Given the description of an element on the screen output the (x, y) to click on. 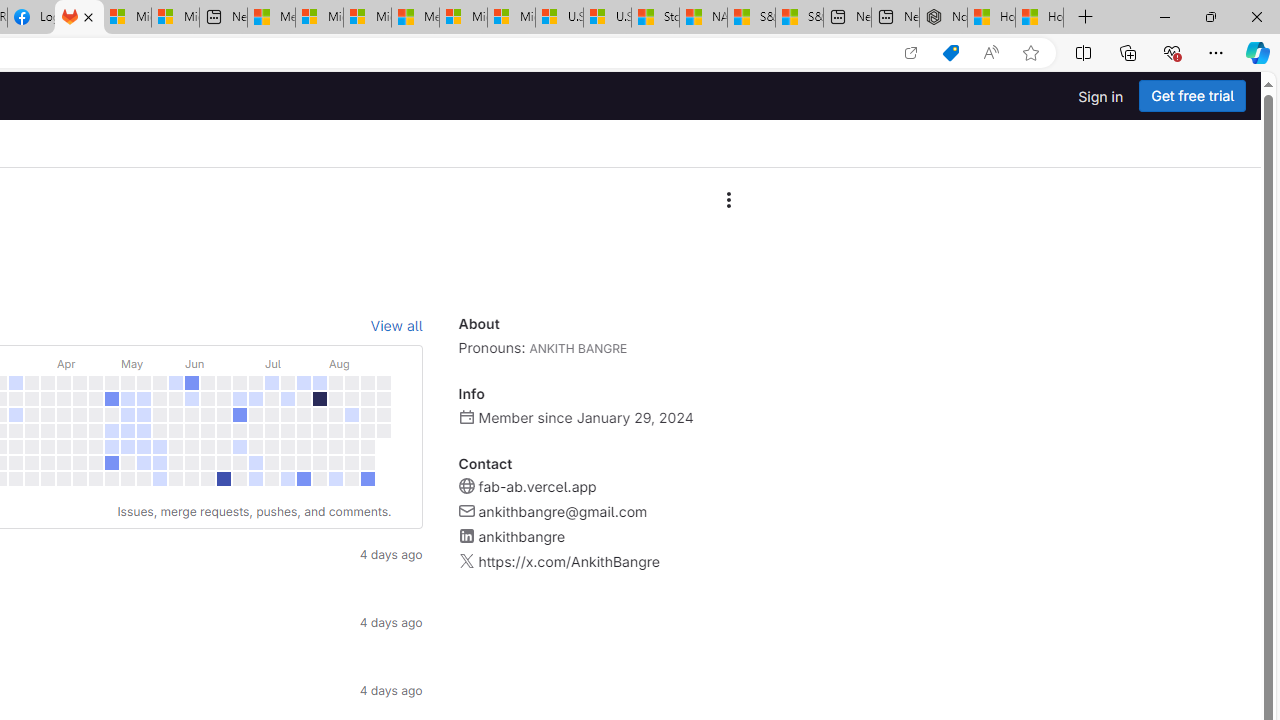
ankithbangre (521, 536)
